Given the description of an element on the screen output the (x, y) to click on. 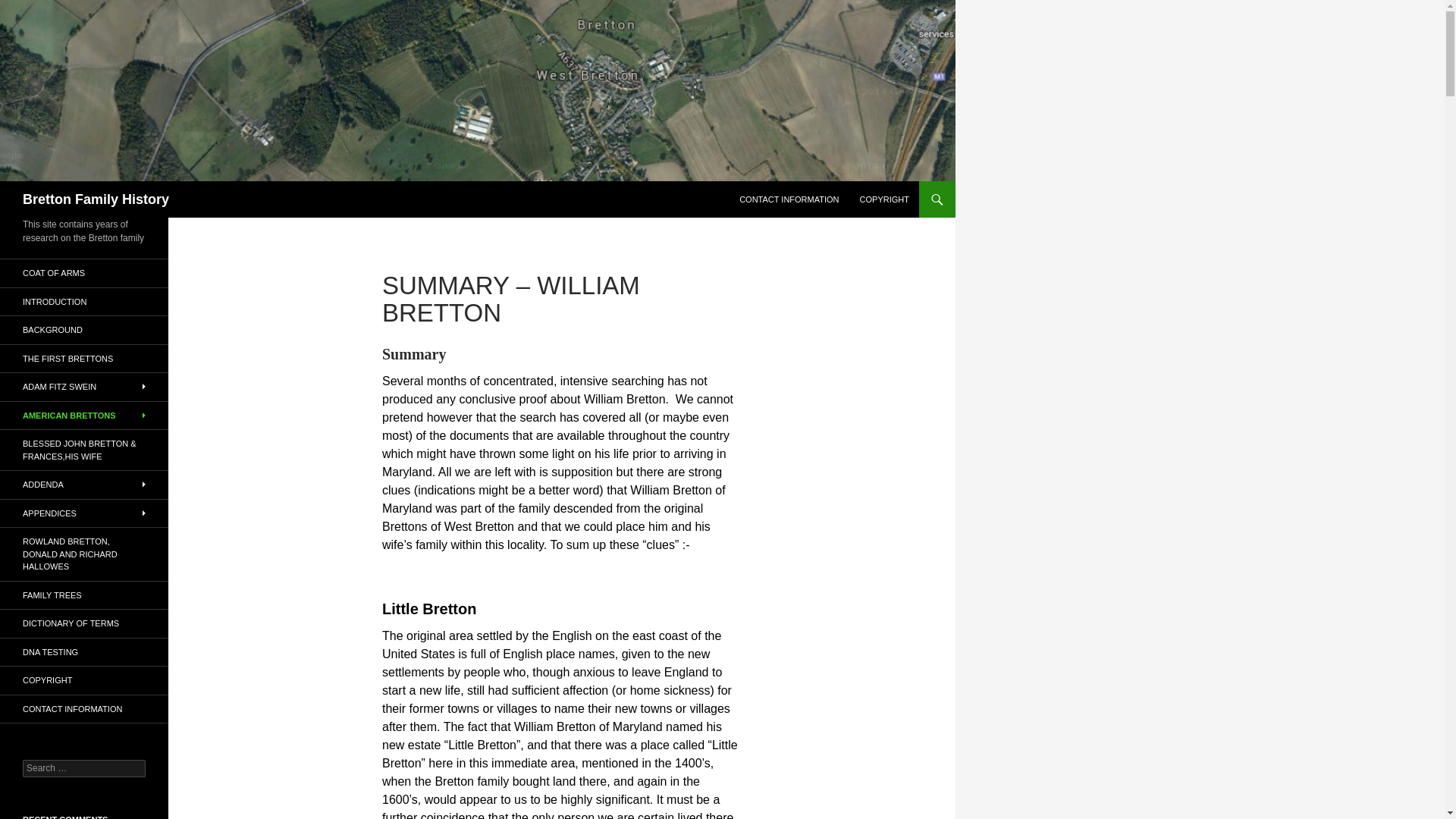
COPYRIGHT (84, 680)
DNA TESTING (84, 652)
FAMILY TREES (84, 594)
ROWLAND BRETTON, DONALD AND RICHARD HALLOWES (84, 553)
DICTIONARY OF TERMS (84, 623)
INTRODUCTION (84, 302)
Bretton Family History (95, 198)
AMERICAN BRETTONS (84, 415)
